Given the description of an element on the screen output the (x, y) to click on. 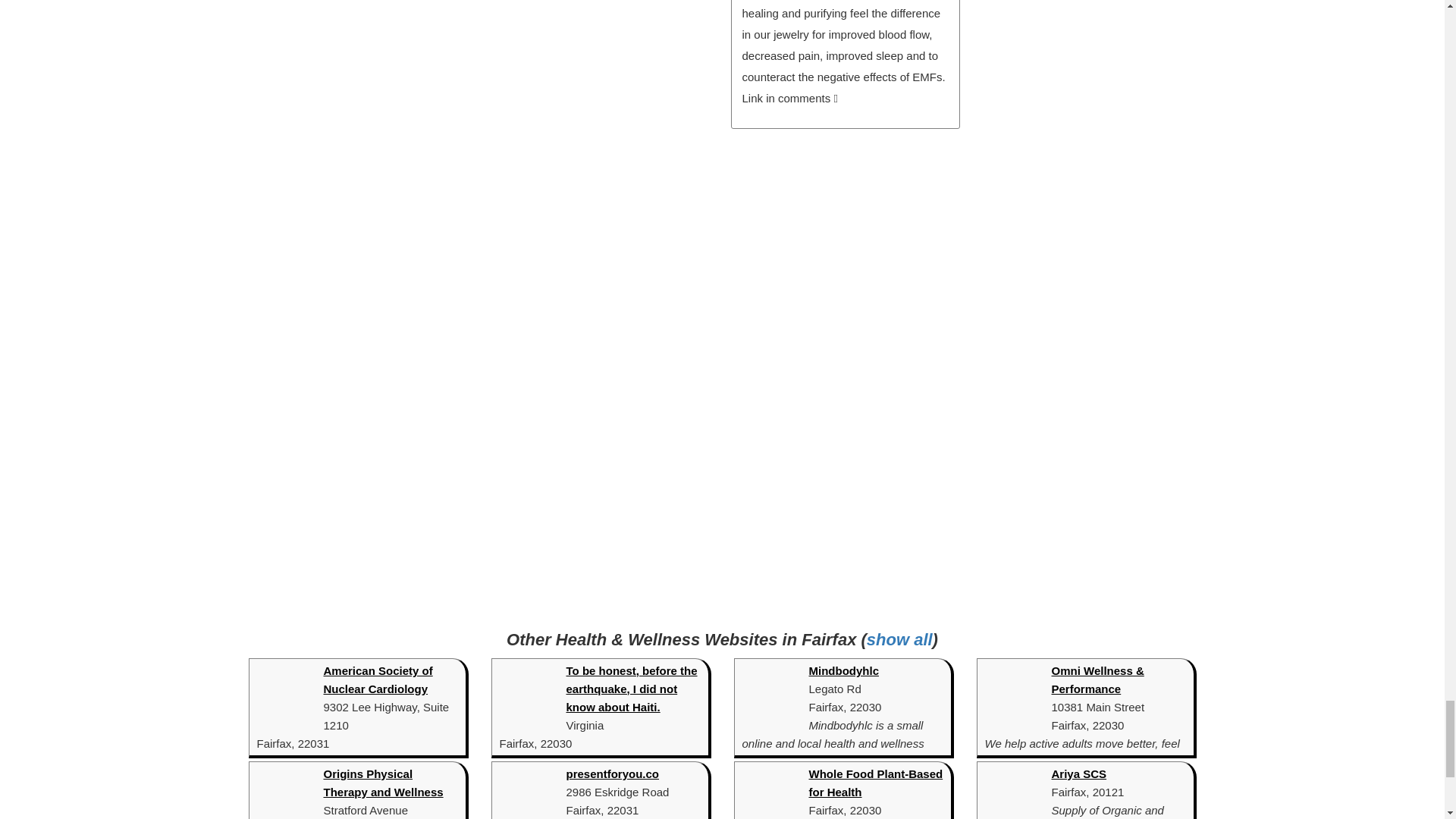
Mindbodyhlc (843, 670)
American Society of Nuclear Cardiology (377, 679)
presentforyou.co (612, 773)
show all (899, 639)
Origins Physical Therapy and Wellness (382, 782)
